Given the description of an element on the screen output the (x, y) to click on. 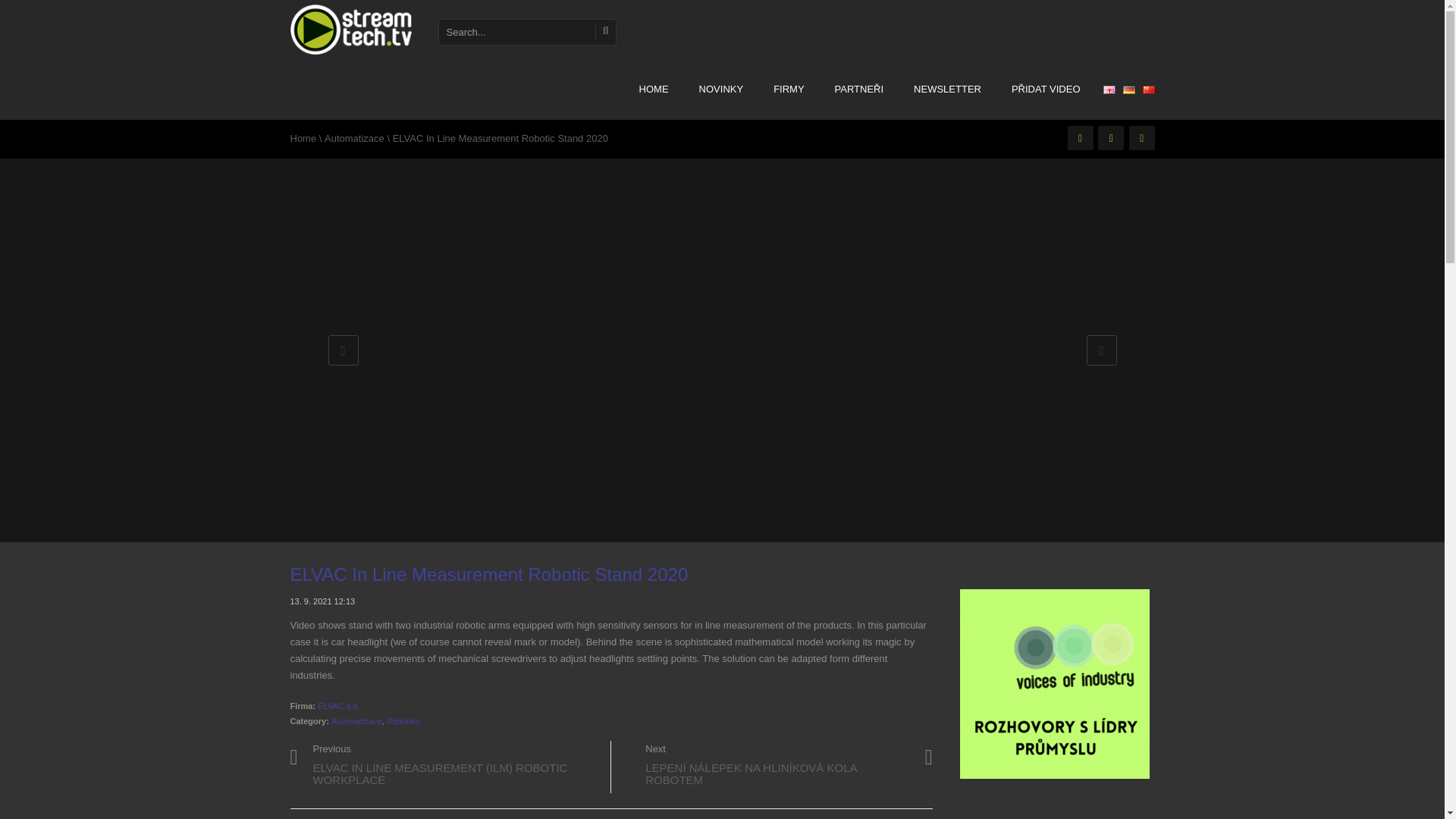
NEWSLETTER (946, 88)
Home (302, 138)
Robotika (403, 720)
Automatizace (354, 138)
Automatizace (356, 720)
NOVINKY (721, 88)
ELVAC In Line Measurement Robotic Stand 2020 - STREAMTECH.TV (349, 23)
HOME (654, 88)
ELVAC a.s. (338, 705)
FIRMY (788, 88)
